Given the description of an element on the screen output the (x, y) to click on. 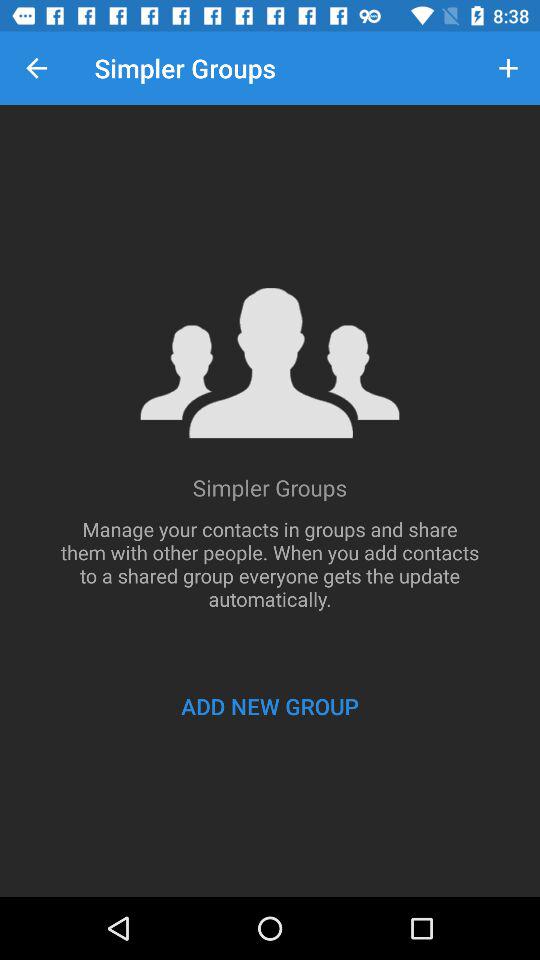
select the item next to the simpler groups item (36, 68)
